Given the description of an element on the screen output the (x, y) to click on. 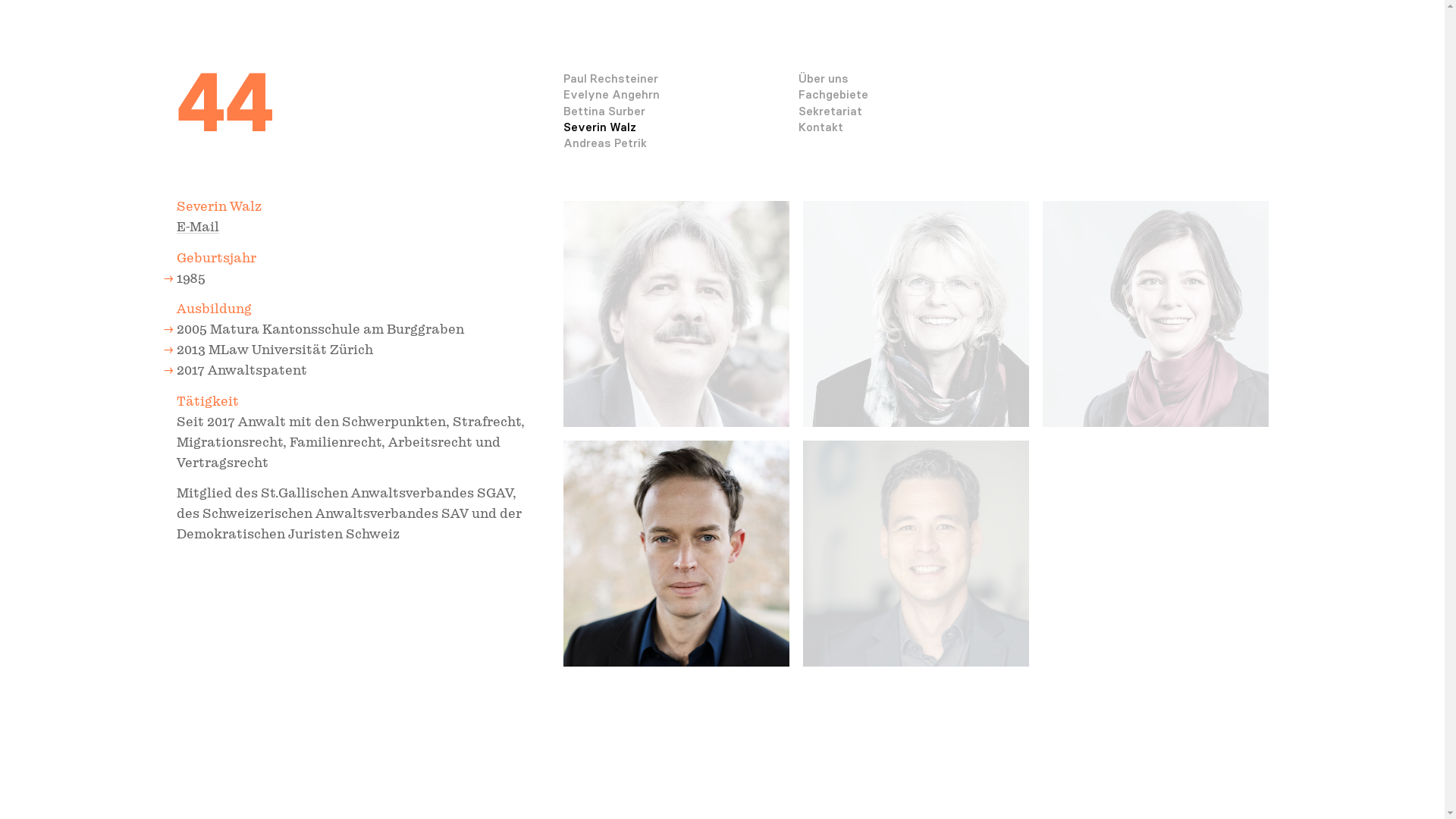
E-Mail Element type: text (196, 227)
Paul Rechsteiner Element type: text (609, 78)
Sekretariat Element type: text (829, 110)
Severin Walz Element type: text (598, 126)
Kontakt Element type: text (819, 126)
Bettina Surber Element type: text (603, 110)
Fachgebiete Element type: text (832, 94)
44 Element type: text (224, 102)
Andreas Petrik Element type: text (604, 142)
Evelyne Angehrn Element type: text (610, 94)
